Given the description of an element on the screen output the (x, y) to click on. 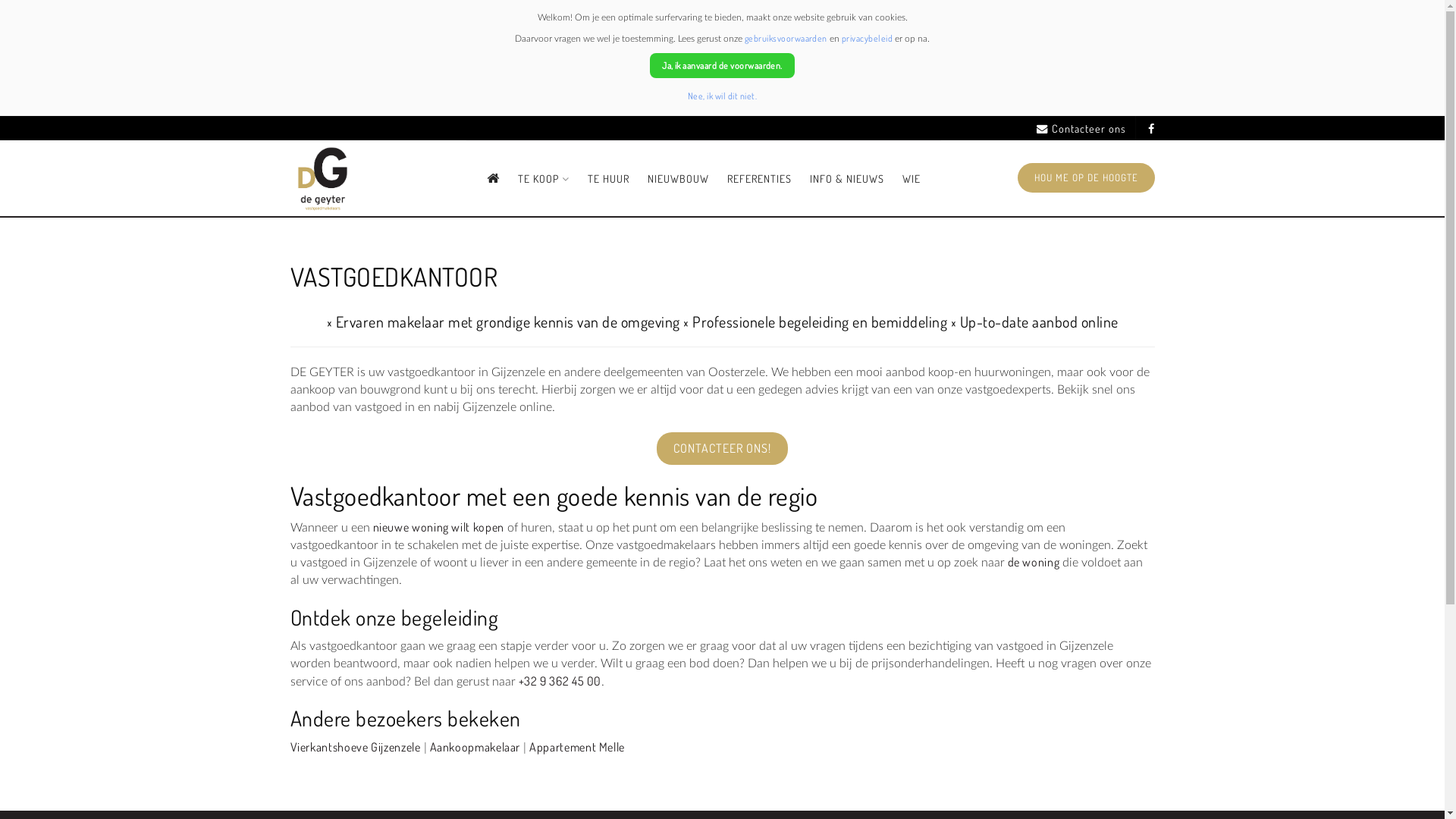
Vierkantshoeve Gijzenzele Element type: text (354, 746)
CONTACTEER ONS! Element type: text (721, 448)
INFO & NIEUWS Element type: text (846, 178)
Appartement Melle Element type: text (576, 746)
HOU ME OP DE HOOGTE Element type: text (1085, 177)
nieuwe woning wilt kopen Element type: text (438, 526)
+32 9 362 45 00 Element type: text (560, 680)
gebruiksvoorwaarden Element type: text (785, 37)
Ja, ik aanvaard de voorwaarden. Element type: text (721, 65)
NIEUWBOUW Element type: text (678, 178)
privacybeleid Element type: text (866, 37)
Nee, ik wil dit niet. Element type: text (721, 95)
Aankoopmakelaar Element type: text (474, 746)
REFERENTIES Element type: text (759, 178)
TE KOOP Element type: text (543, 178)
de woning Element type: text (1033, 561)
WIE Element type: text (911, 178)
Contacteer ons Element type: text (1080, 128)
TE HUUR Element type: text (608, 178)
